Given the description of an element on the screen output the (x, y) to click on. 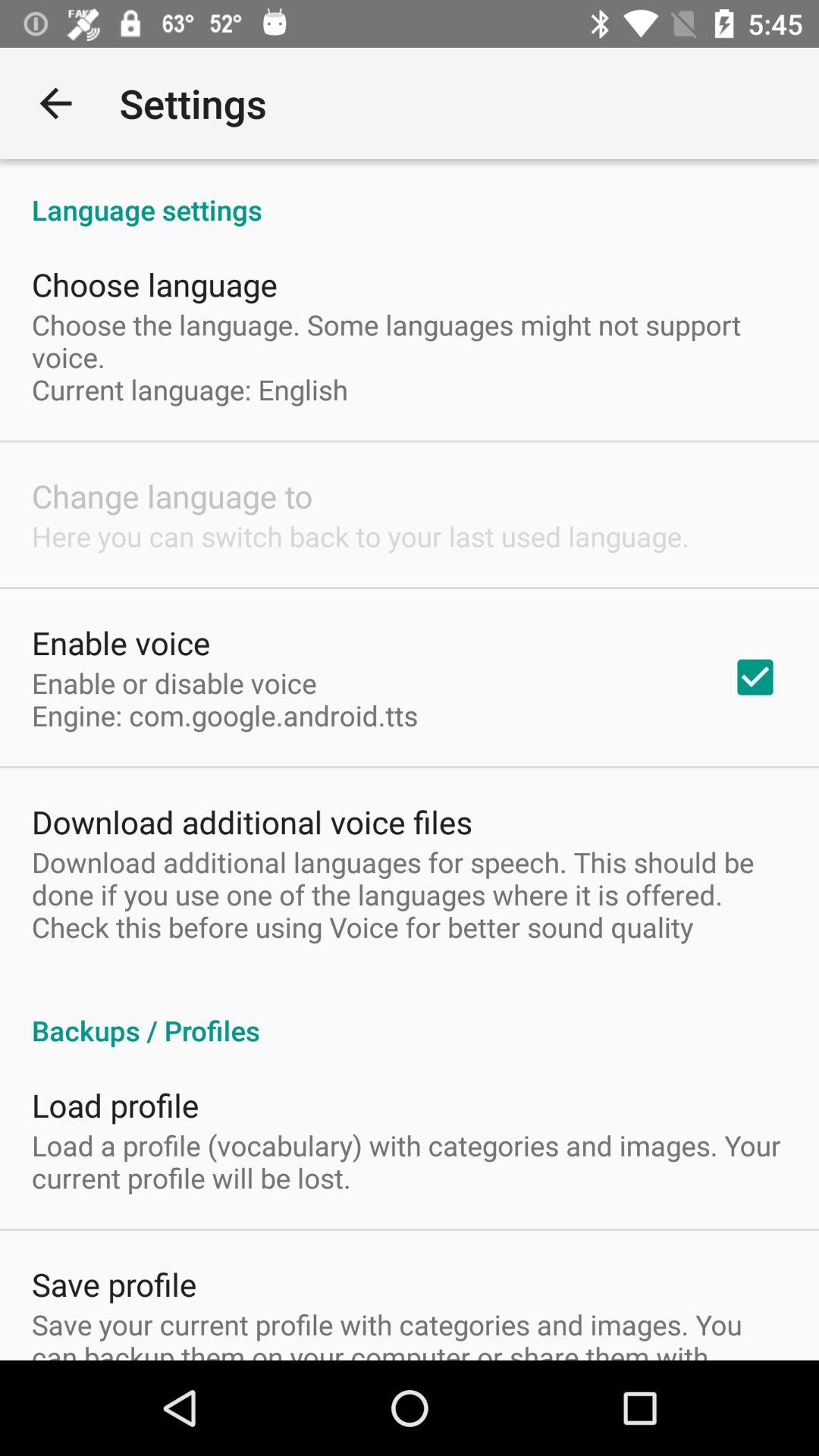
press the item above the download additional languages app (755, 677)
